Given the description of an element on the screen output the (x, y) to click on. 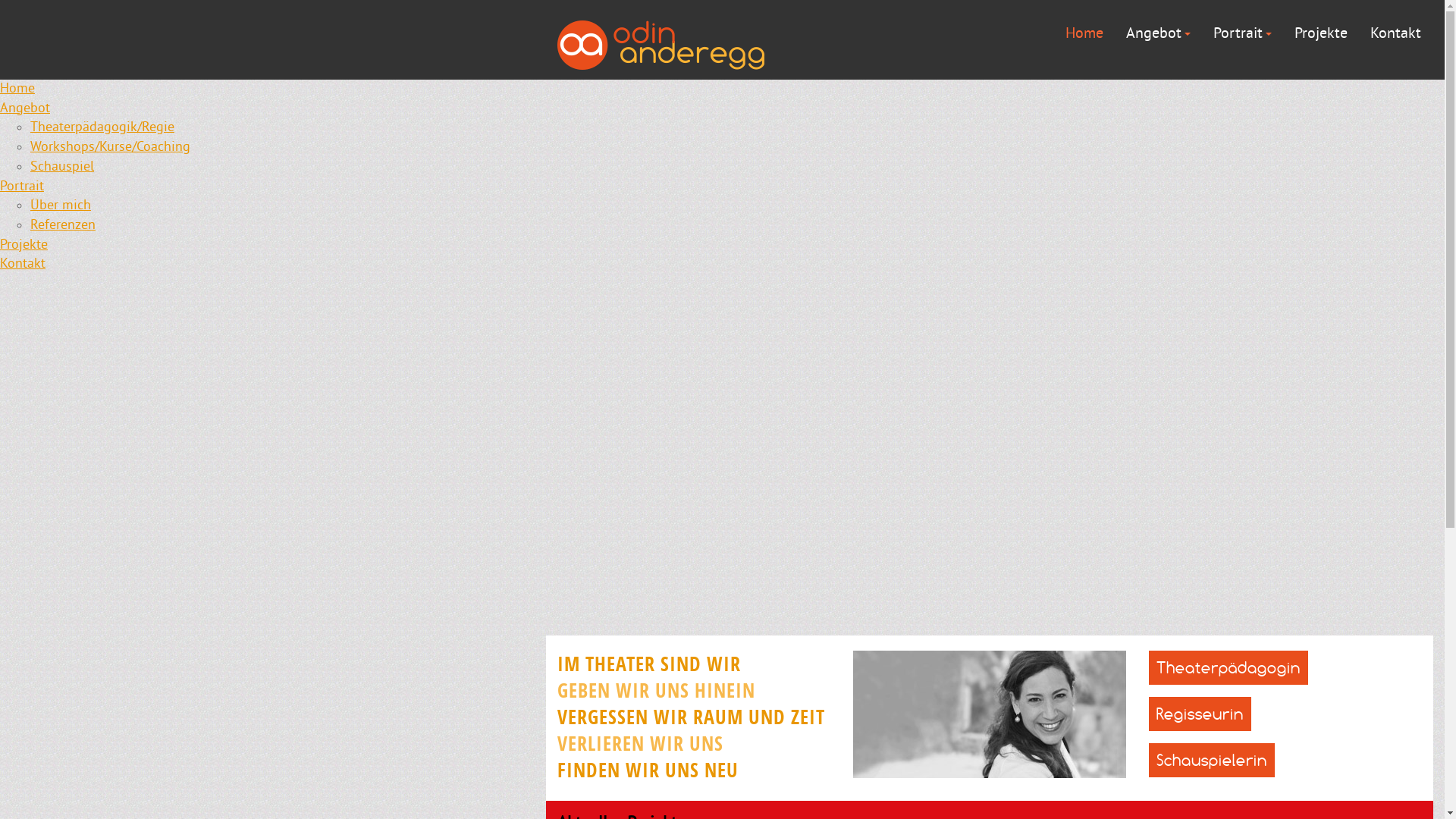
Workshops/Kurse/Coaching Element type: text (110, 147)
Kontakt Element type: text (22, 264)
Home Element type: text (1084, 33)
Portrait Element type: text (1242, 33)
Angebot Element type: text (1158, 33)
Angebot Element type: text (25, 108)
Projekte Element type: text (1320, 33)
Portrait Element type: text (21, 186)
Schauspiel Element type: text (62, 166)
Referenzen Element type: text (62, 225)
Kontakt Element type: text (1395, 33)
Projekte Element type: text (23, 245)
Home Element type: text (17, 88)
